Given the description of an element on the screen output the (x, y) to click on. 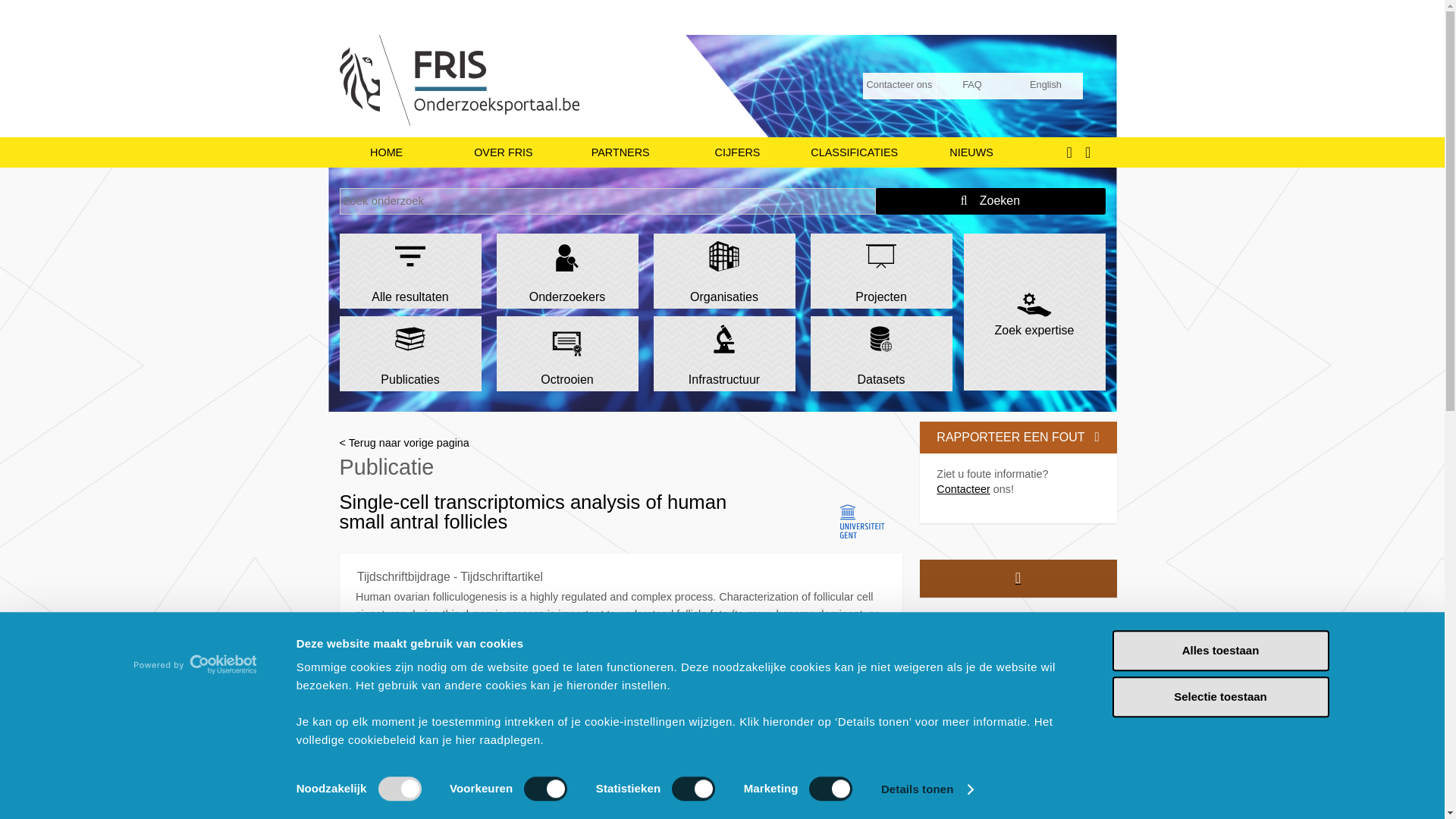
Overslaan en naar de inhoud gaan (722, 1)
Home (499, 75)
Leer meer over de FRIS dataleveranciers. (620, 152)
Bekijk gegevens over onderzoek in Vlaanderen. (736, 152)
Details tonen (926, 789)
Selectie toestaan (1219, 696)
Alles toestaan (1219, 649)
